Given the description of an element on the screen output the (x, y) to click on. 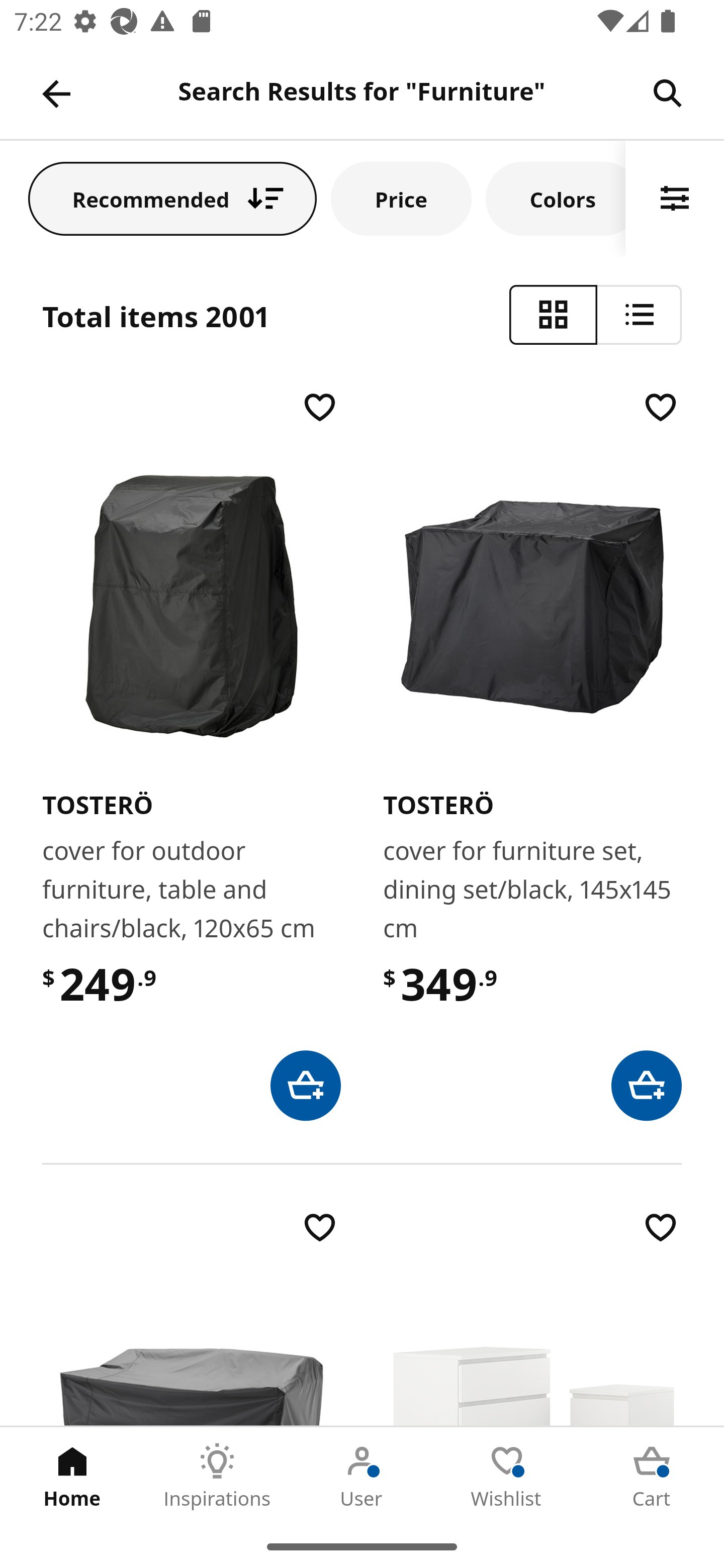
Recommended (172, 198)
Price (400, 198)
Colors (555, 198)
Home
Tab 1 of 5 (72, 1476)
Inspirations
Tab 2 of 5 (216, 1476)
User
Tab 3 of 5 (361, 1476)
Wishlist
Tab 4 of 5 (506, 1476)
Cart
Tab 5 of 5 (651, 1476)
